Given the description of an element on the screen output the (x, y) to click on. 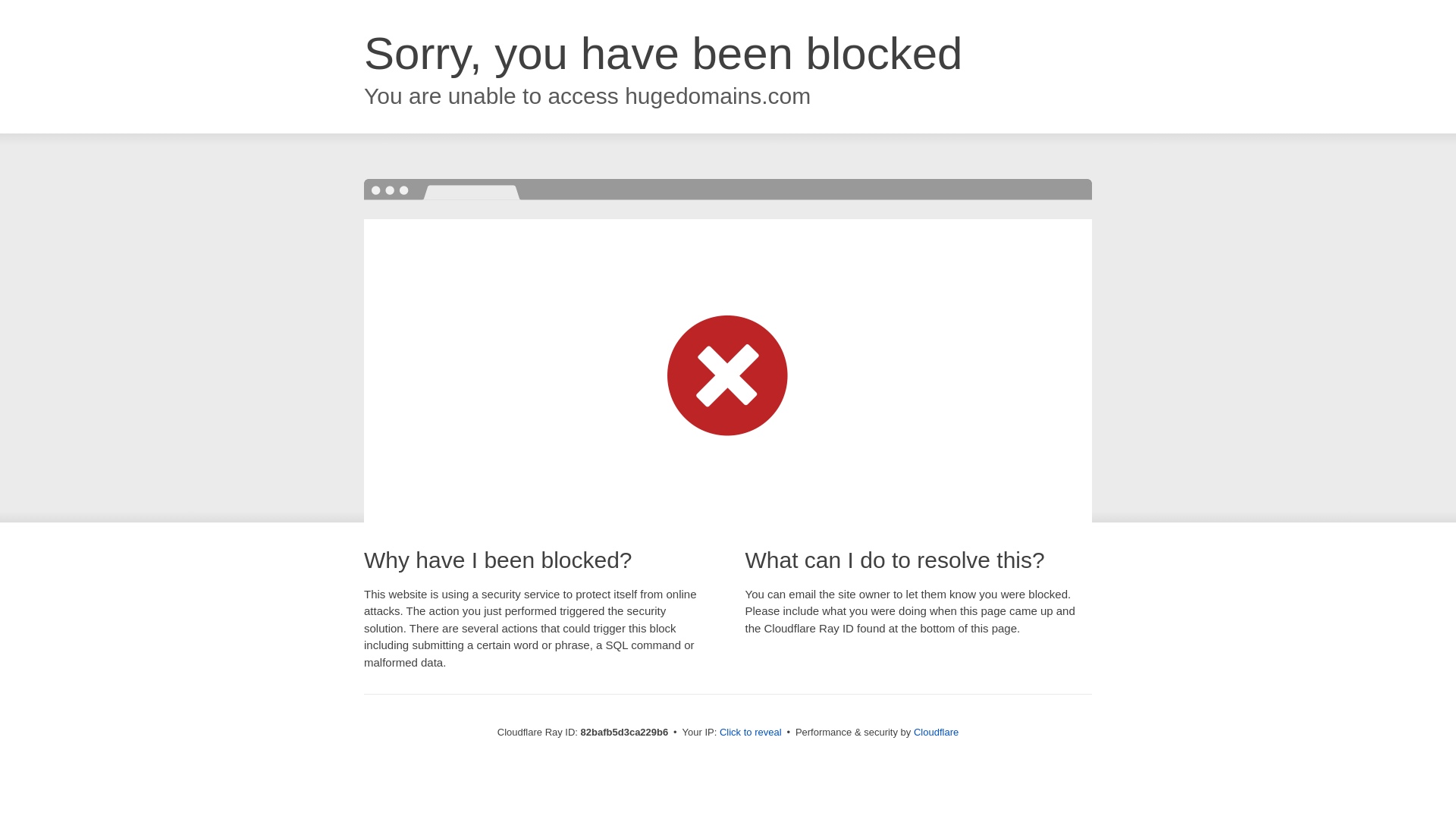
Cloudflare Element type: text (935, 731)
Click to reveal Element type: text (750, 732)
